Given the description of an element on the screen output the (x, y) to click on. 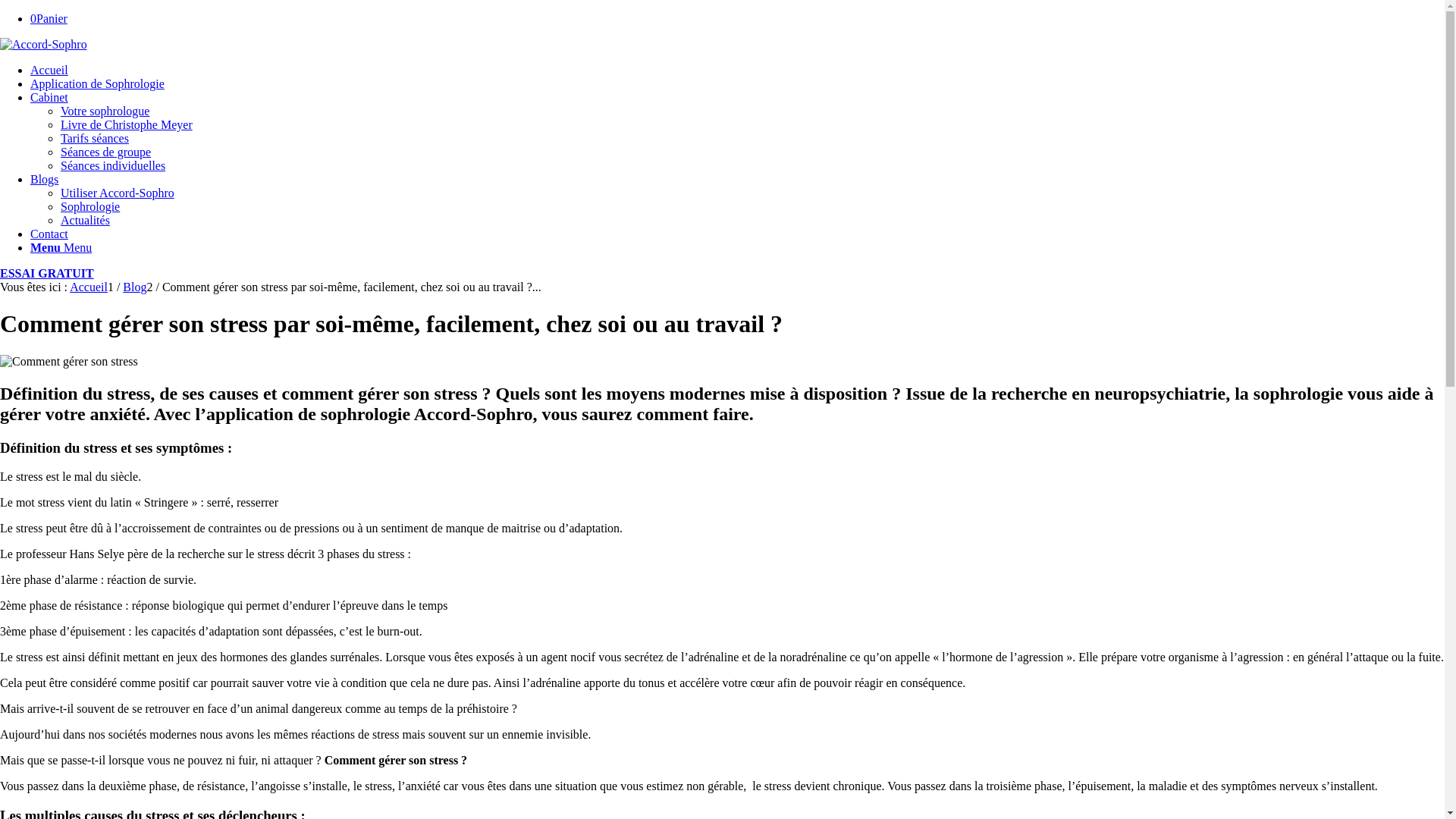
Blogs Element type: text (44, 178)
Accord-Sophro Element type: hover (43, 44)
Votre sophrologue Element type: text (104, 110)
Accueil Element type: text (88, 286)
Cabinet Element type: text (49, 97)
Contact Element type: text (49, 233)
Blog Element type: text (134, 286)
ESSAI GRATUIT Element type: text (47, 272)
Accueil Element type: text (49, 69)
Utiliser Accord-Sophro Element type: text (117, 192)
Sophrologie Element type: text (89, 206)
Livre de Christophe Meyer Element type: text (126, 124)
Application de Sophrologie Element type: text (97, 83)
0Panier Element type: text (48, 18)
Menu Menu Element type: text (60, 247)
